Given the description of an element on the screen output the (x, y) to click on. 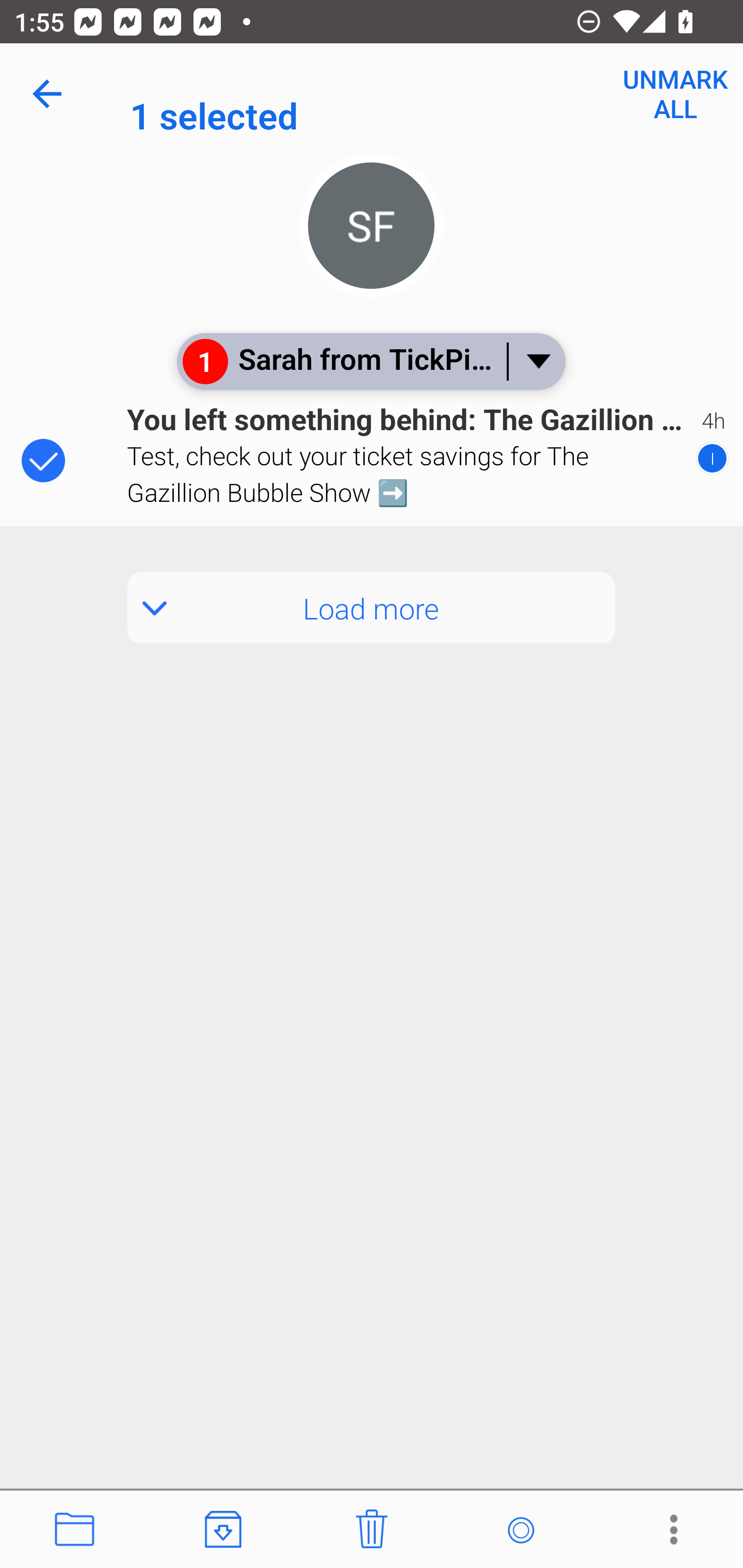
Sarah from TickPick hey@tickpick.com (436, 93)
Done (50, 93)
UNMARK
ALL (675, 93)
1 Sarah from TickPick & You (370, 361)
Load more (371, 607)
Move (74, 1529)
Archive (222, 1529)
Delete (371, 1529)
Mark as Read (520, 1529)
More Options (668, 1529)
